Given the description of an element on the screen output the (x, y) to click on. 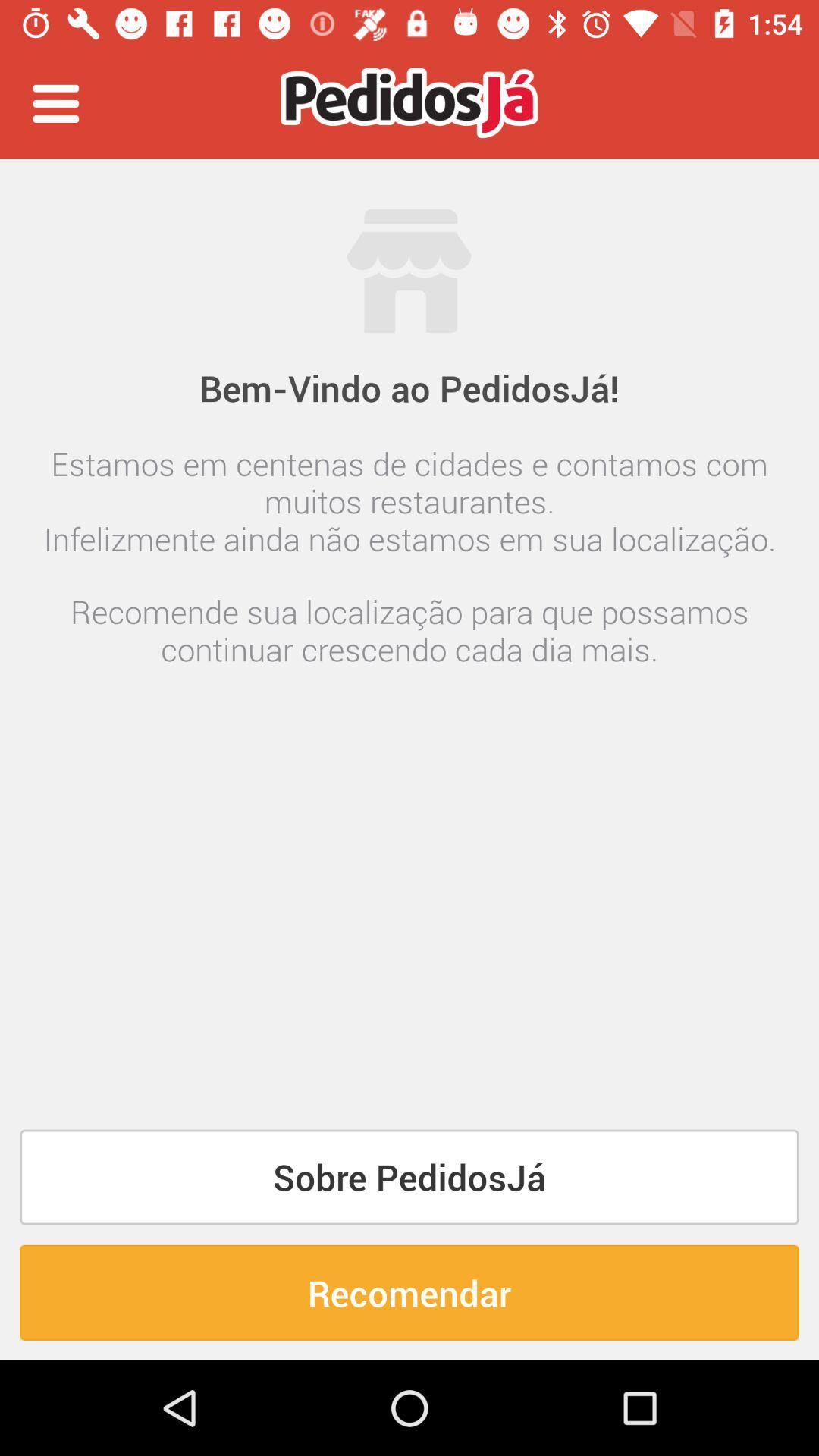
jump to recomendar icon (409, 1292)
